Given the description of an element on the screen output the (x, y) to click on. 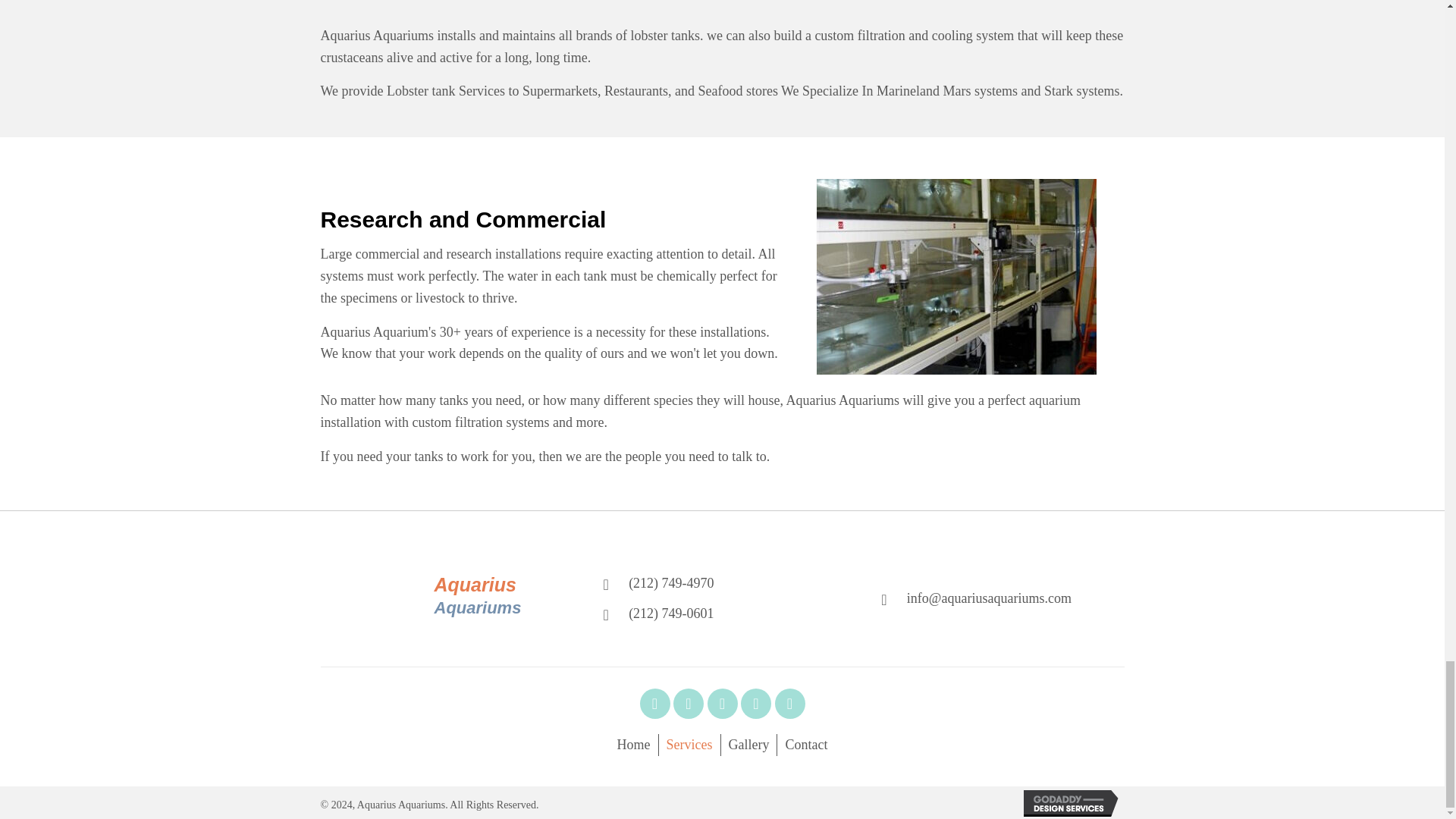
Contact (805, 744)
Services (689, 744)
Gallery (748, 744)
Home (634, 744)
